Given the description of an element on the screen output the (x, y) to click on. 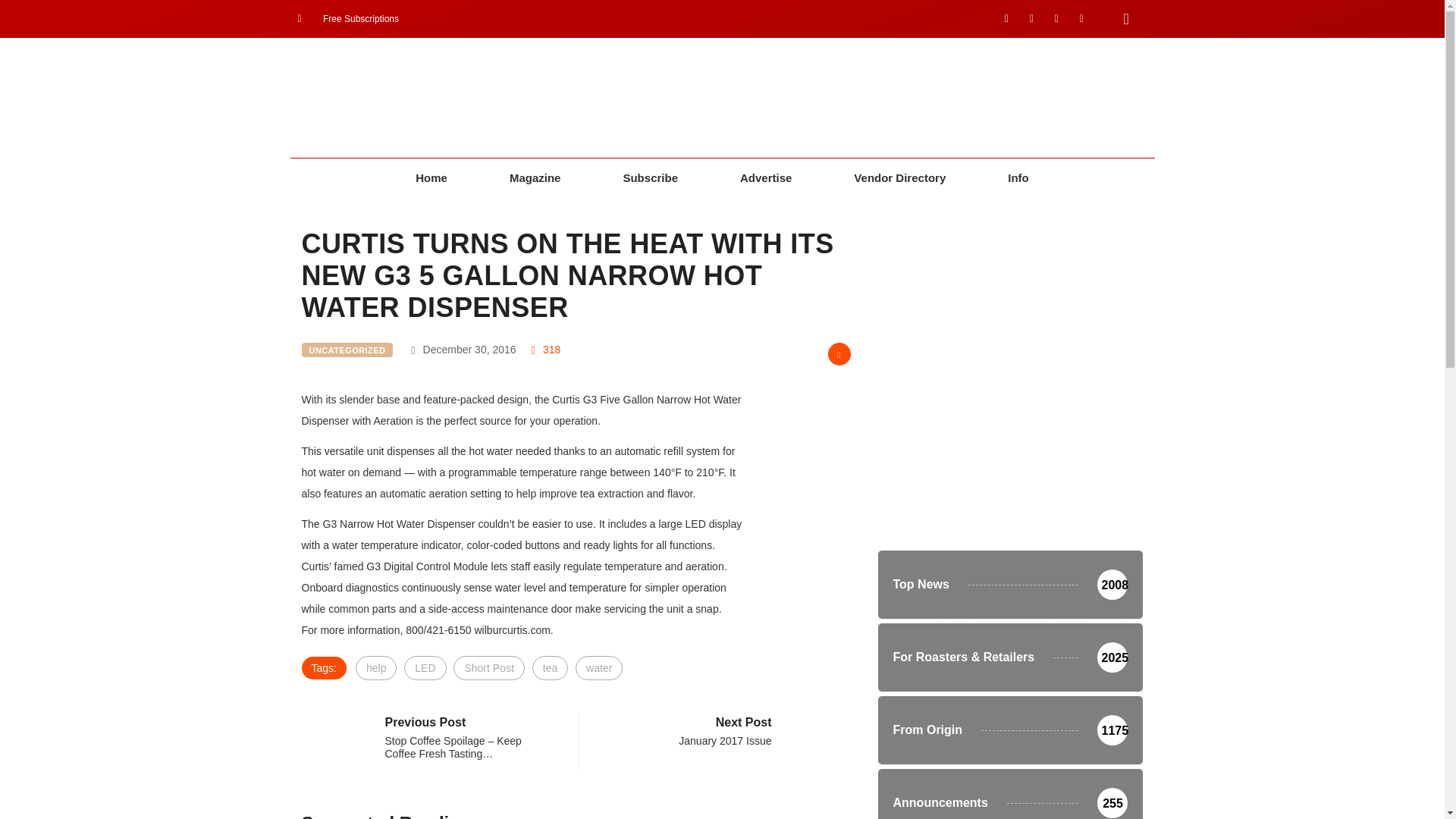
Magazine (535, 178)
Free Subscriptions (347, 18)
Home (431, 178)
